Given the description of an element on the screen output the (x, y) to click on. 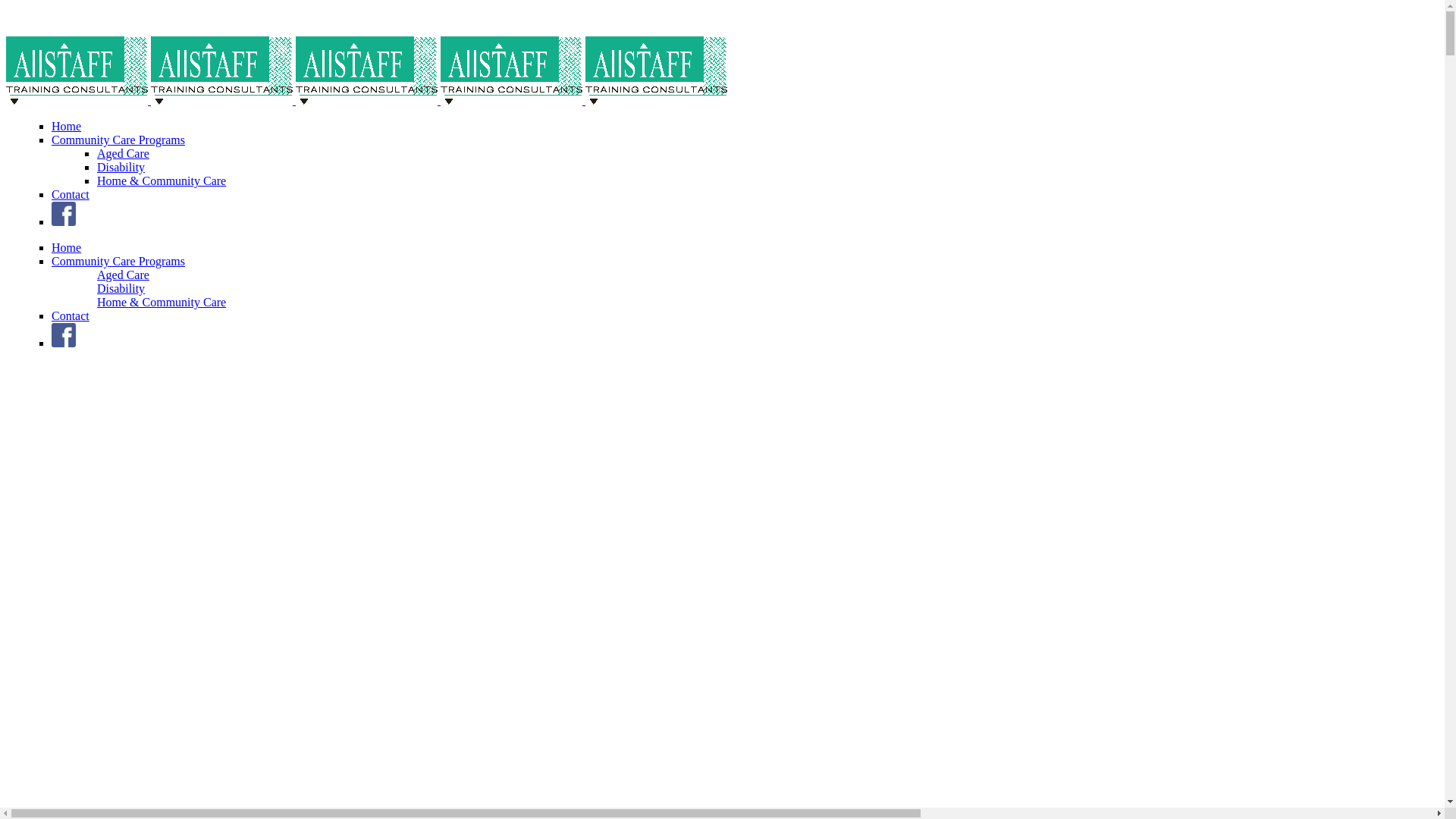
Disability Element type: text (120, 288)
Contact Element type: text (70, 194)
Home Element type: text (66, 247)
Home Element type: text (66, 125)
Disability Element type: text (120, 166)
Aged Care Element type: text (123, 153)
Contact Element type: text (70, 315)
Community Care Programs Element type: text (118, 260)
Aged Care Element type: text (123, 274)
Home & Community Care Element type: text (161, 301)
Home & Community Care Element type: text (161, 180)
Community Care Programs Element type: text (118, 139)
